Given the description of an element on the screen output the (x, y) to click on. 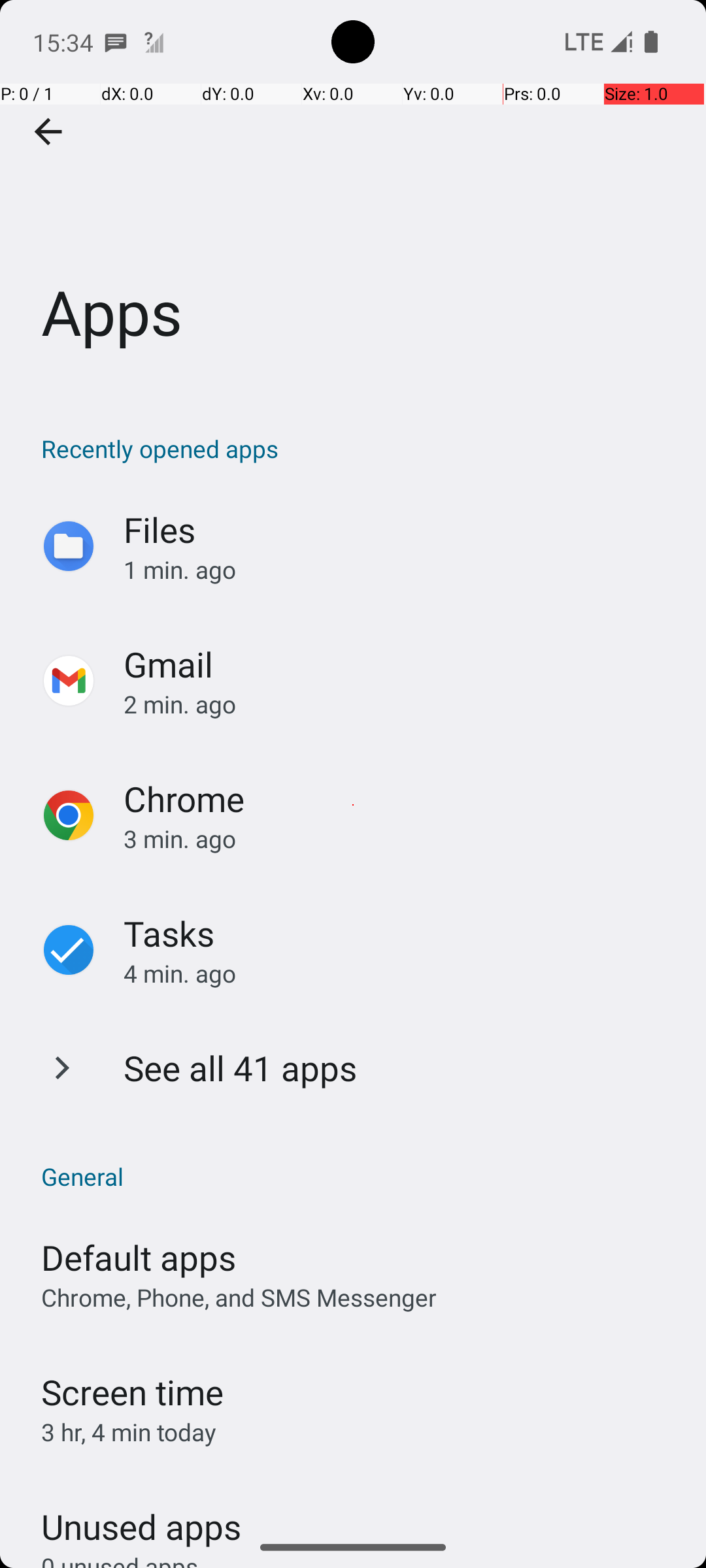
Recently opened apps Element type: android.widget.TextView (359, 448)
1 min. ago Element type: android.widget.TextView (400, 569)
2 min. ago Element type: android.widget.TextView (400, 703)
3 min. ago Element type: android.widget.TextView (400, 838)
4 min. ago Element type: android.widget.TextView (400, 972)
See all 41 apps Element type: android.widget.TextView (239, 1067)
Chrome, Phone, and SMS Messenger Element type: android.widget.TextView (238, 1296)
3 hr, 4 min today Element type: android.widget.TextView (129, 1431)
Unused apps Element type: android.widget.TextView (141, 1514)
